Given the description of an element on the screen output the (x, y) to click on. 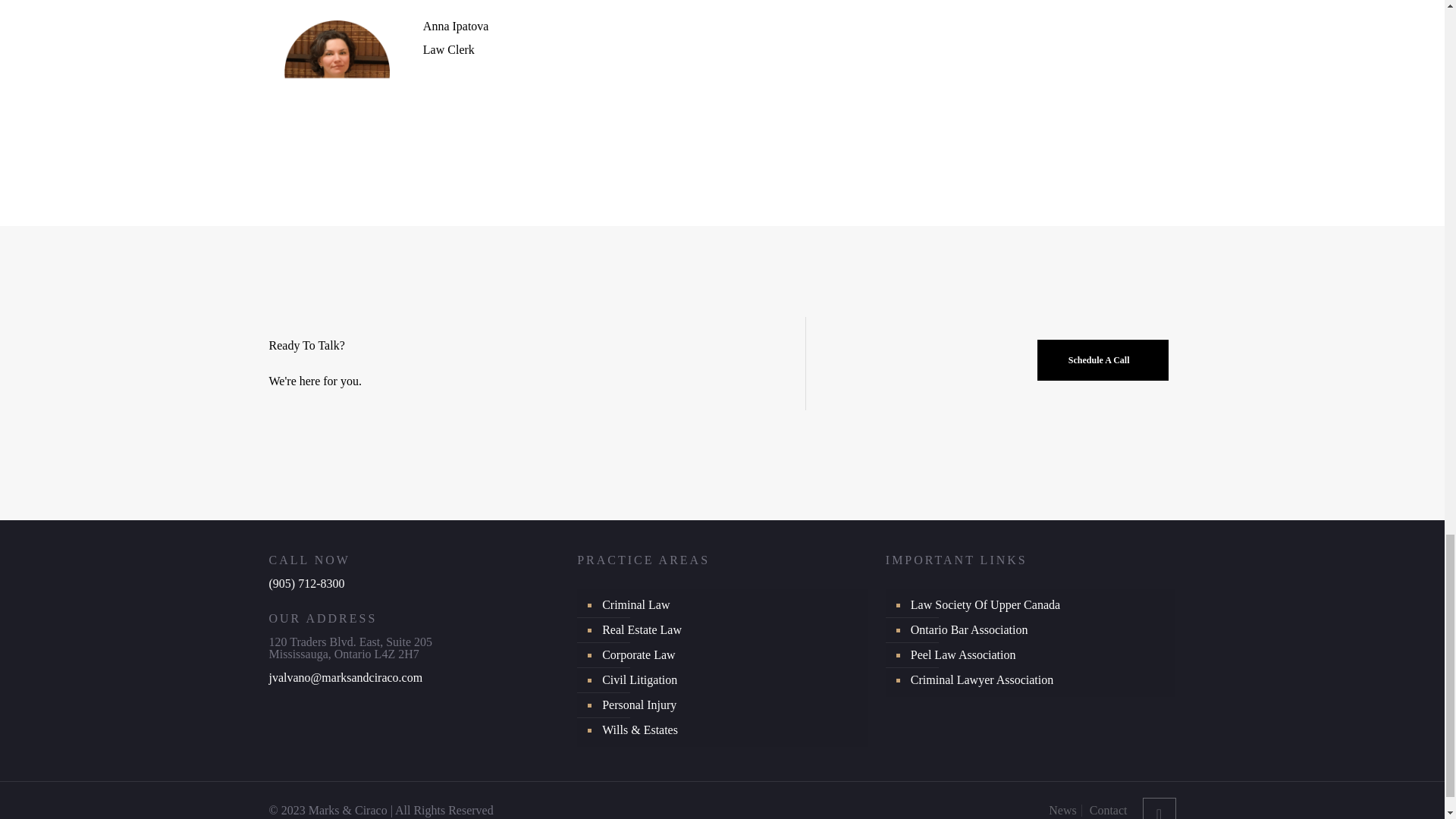
Peel Law Association (1038, 655)
Civil Litigation (729, 680)
News (1061, 809)
Criminal Law (729, 605)
Personal Injury (729, 705)
Real Estate Law (729, 630)
Law Society Of Upper Canada (1038, 605)
Contact (1107, 809)
Schedule A Call (1102, 359)
Corporate Law (729, 655)
